Given the description of an element on the screen output the (x, y) to click on. 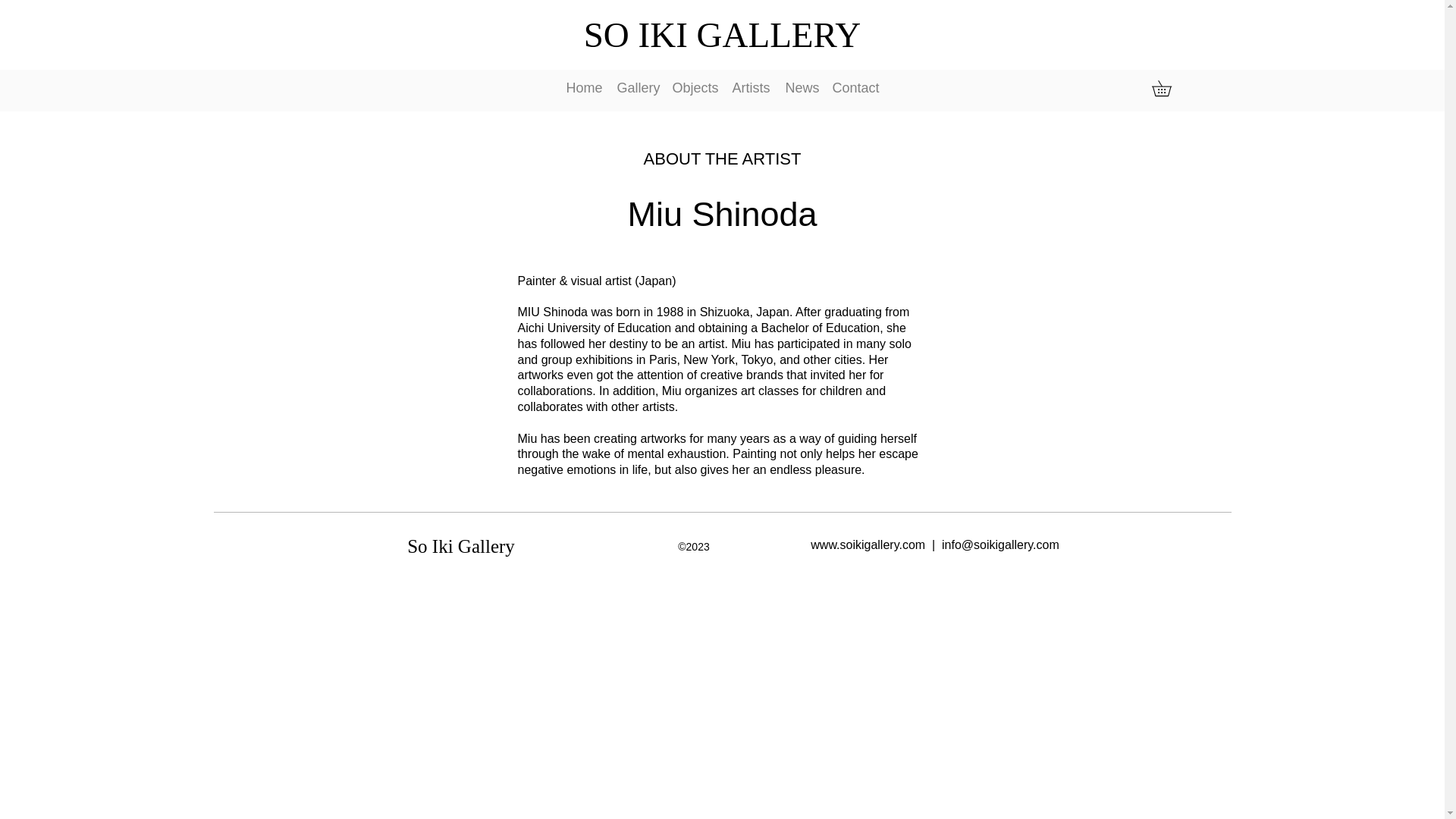
Objects (693, 87)
SO IKI GALLERY (722, 34)
Artists (751, 87)
News (801, 87)
www.soikigallery.com (867, 544)
Gallery (637, 87)
Contact (855, 87)
Home (582, 87)
